Given the description of an element on the screen output the (x, y) to click on. 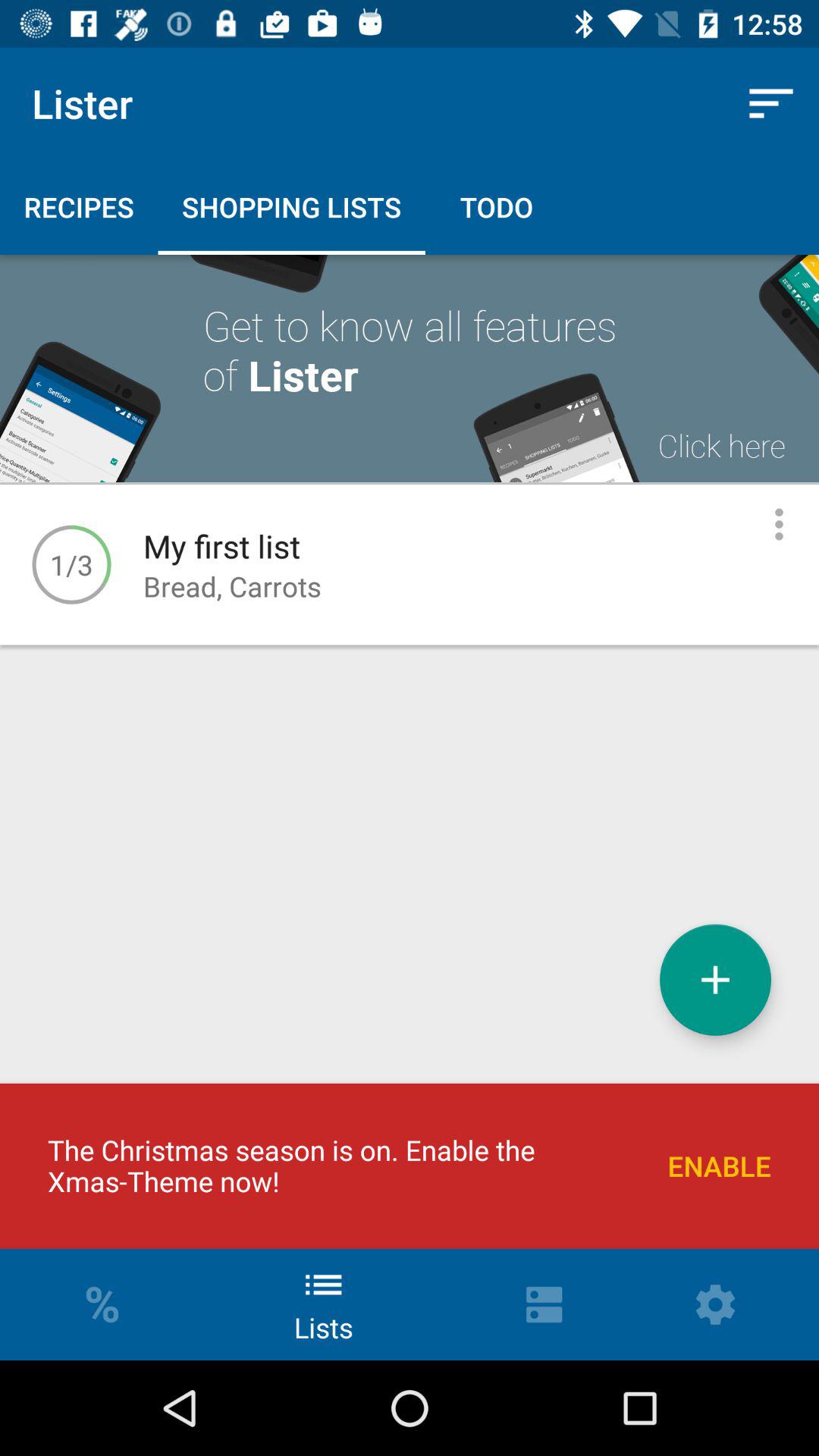
add shopping list (715, 979)
